Given the description of an element on the screen output the (x, y) to click on. 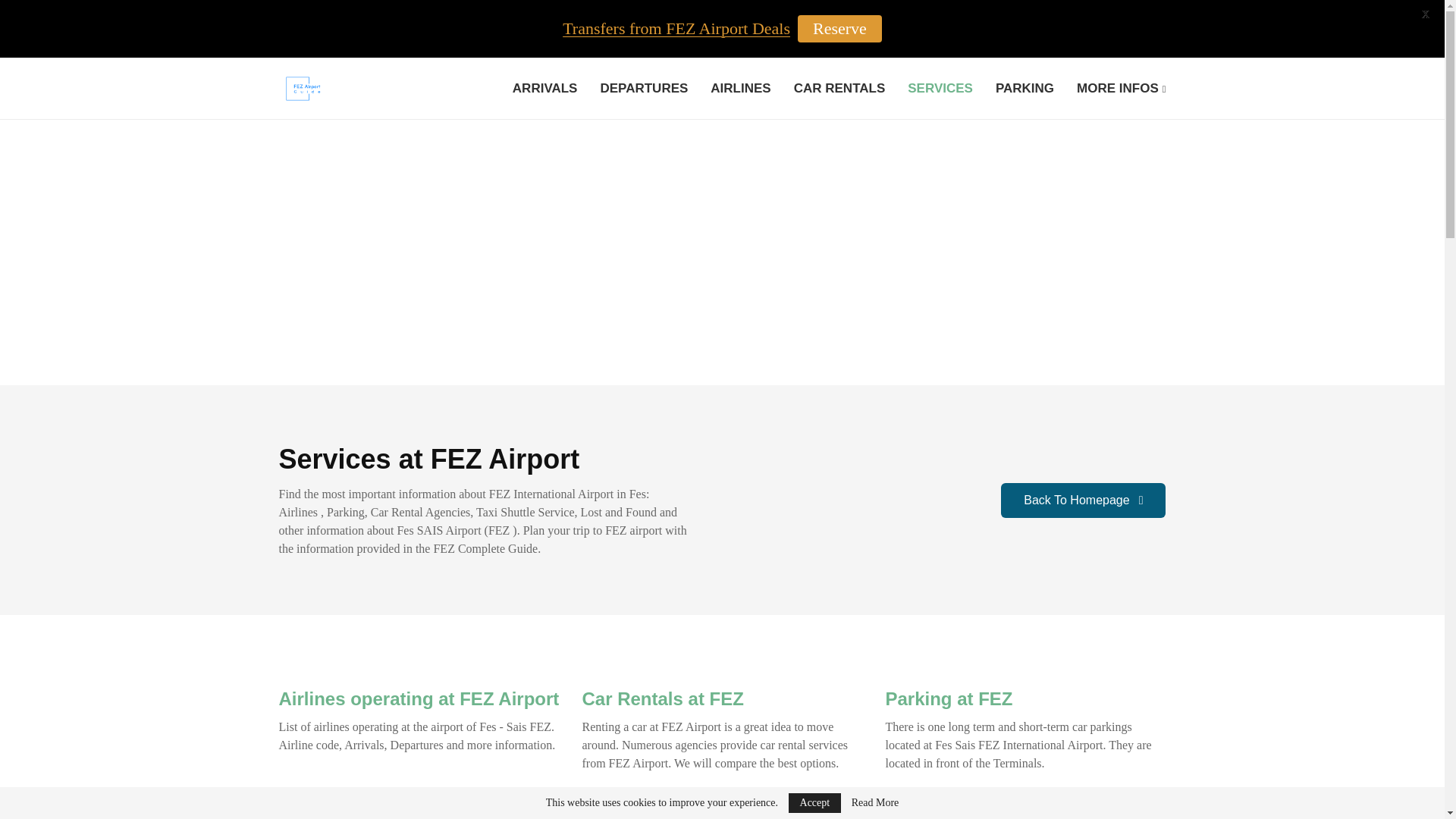
ARRIVALS (545, 88)
PARKING (1024, 88)
SERVICES (939, 88)
Back To Homepage (1083, 500)
Airlines operating at FEZ Airport (419, 698)
DEPARTURES (643, 88)
Parking at FEZ (948, 698)
MORE INFOS (1121, 88)
CAR RENTALS (839, 88)
AIRLINES (740, 88)
Car Rentals at FEZ (661, 698)
